Given the description of an element on the screen output the (x, y) to click on. 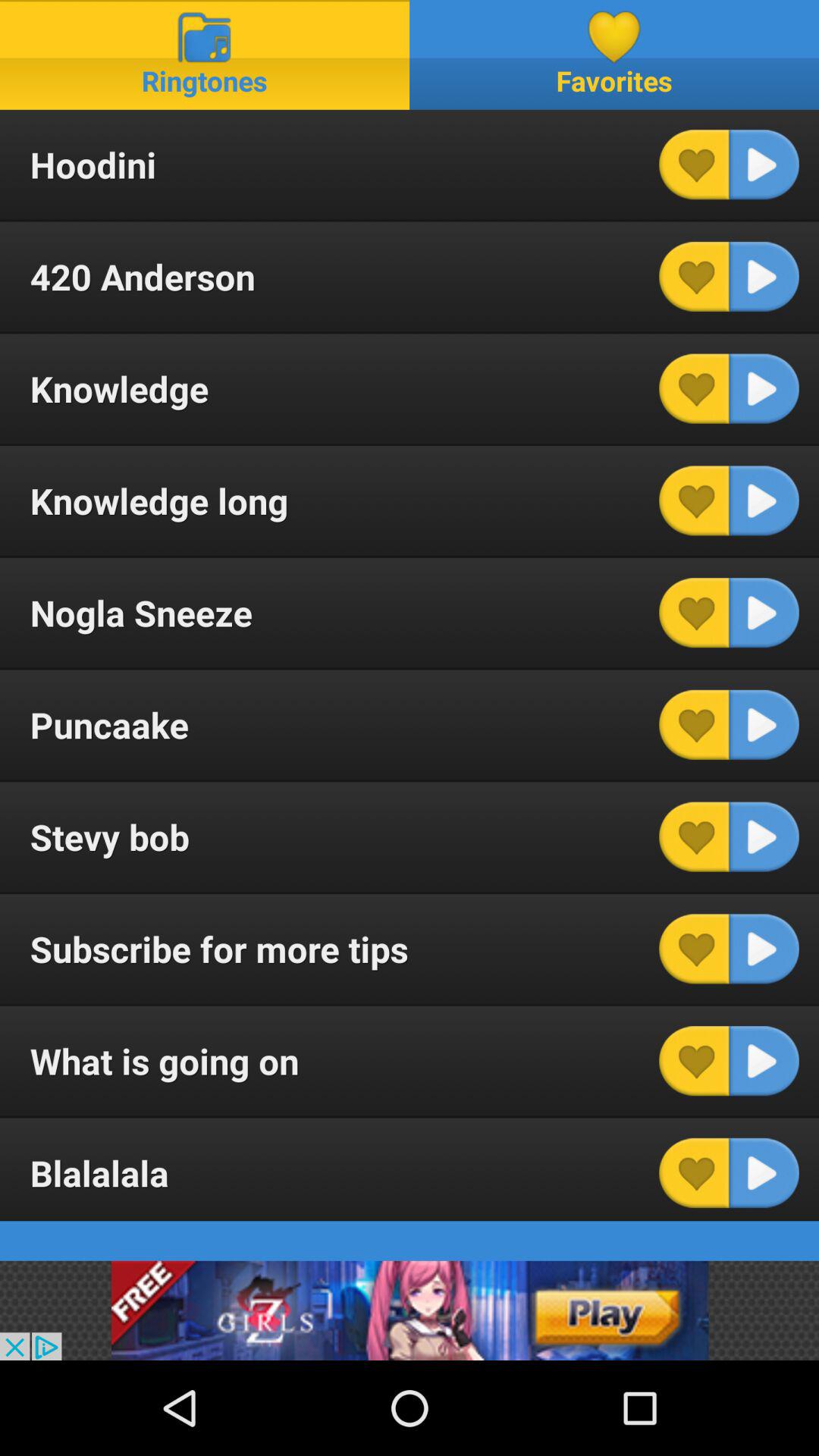
play ringtone (764, 1173)
